Given the description of an element on the screen output the (x, y) to click on. 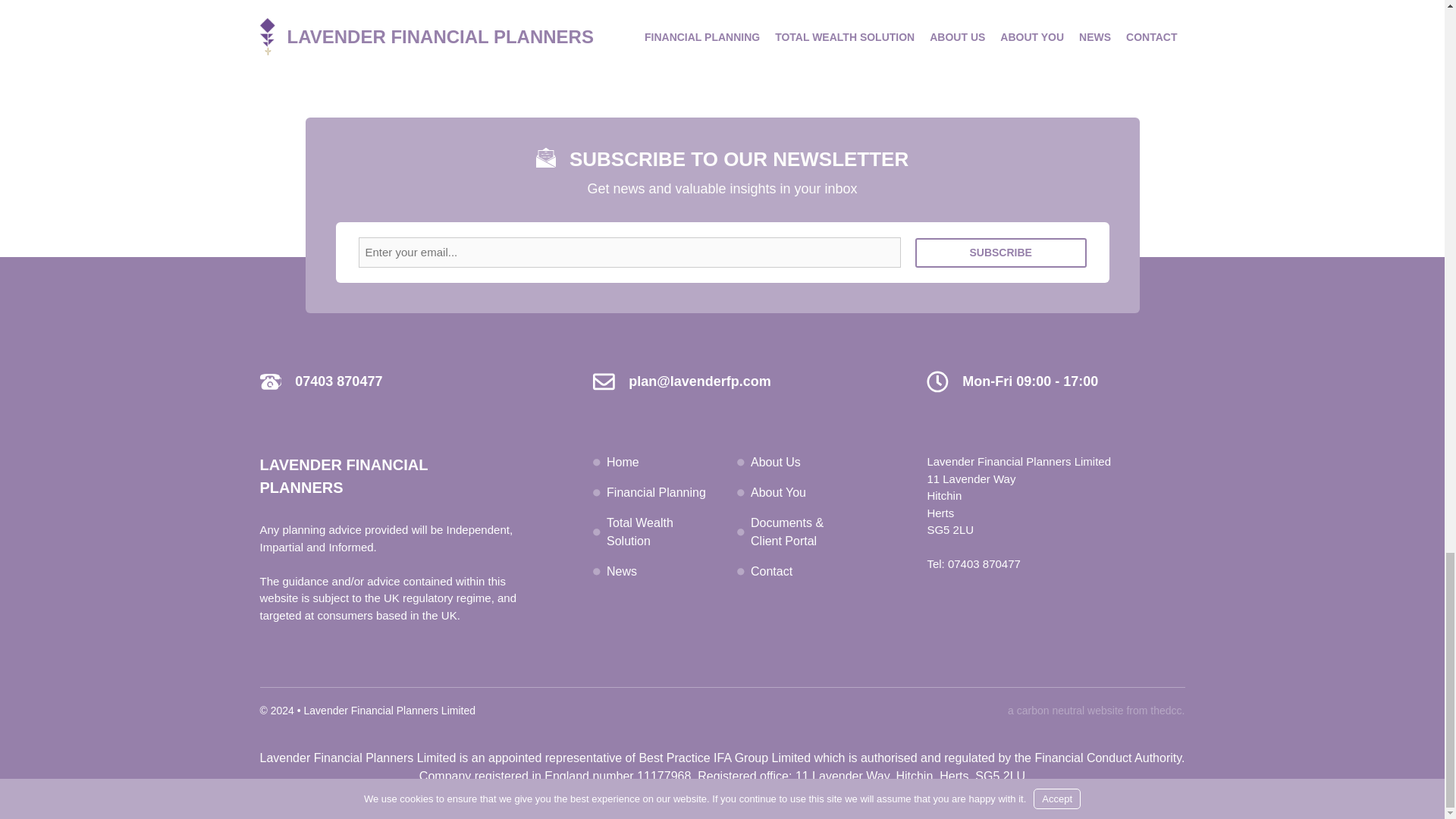
About You (778, 492)
Home (623, 461)
Total Wealth Solution (639, 531)
07403 870477 (983, 563)
About Us (775, 461)
Subscribe (1000, 252)
07403 870477 (338, 381)
1 (711, 4)
Subscribe (1000, 252)
Financial Planning (656, 492)
